Given the description of an element on the screen output the (x, y) to click on. 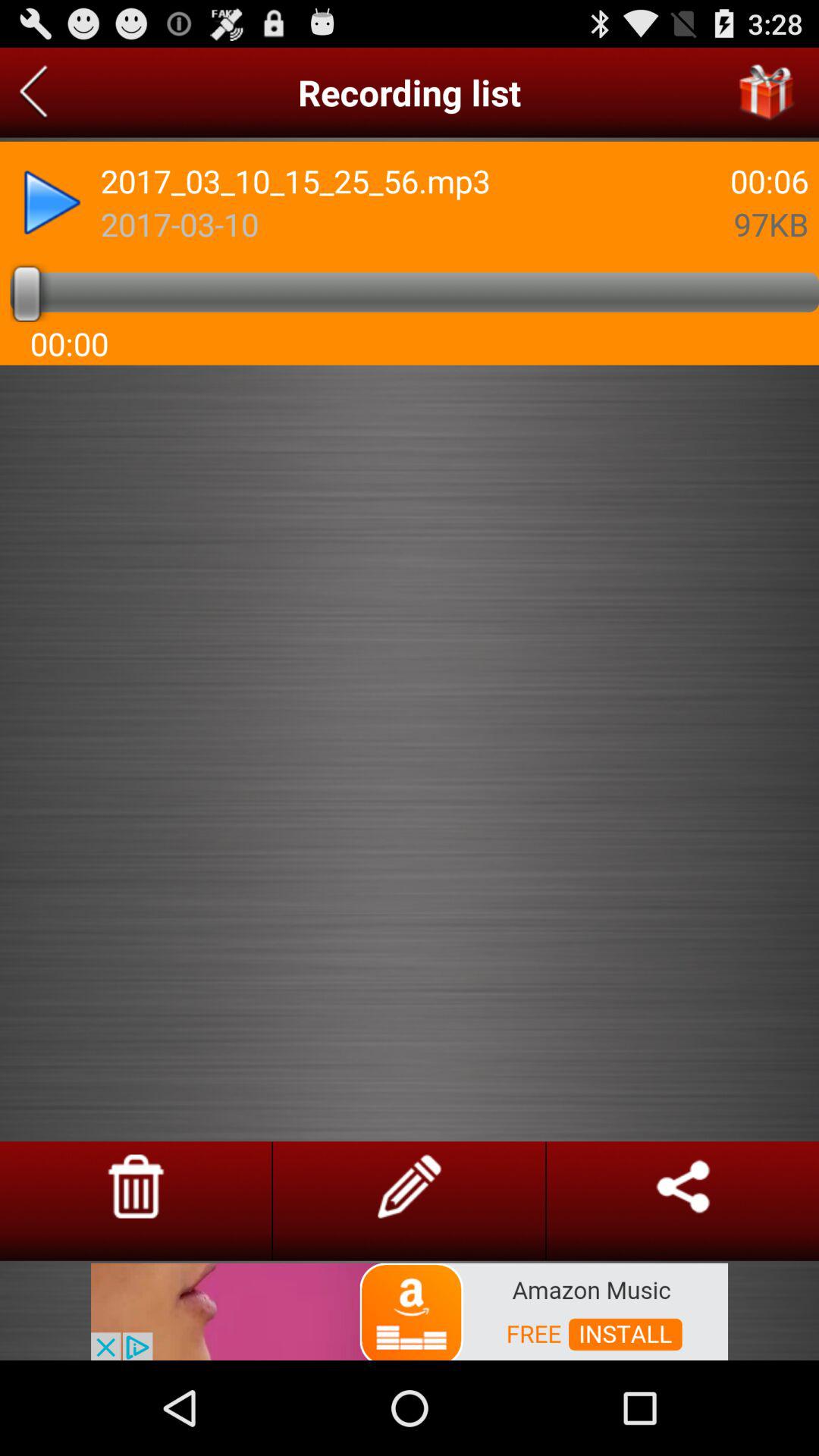
take notes (409, 1186)
